Given the description of an element on the screen output the (x, y) to click on. 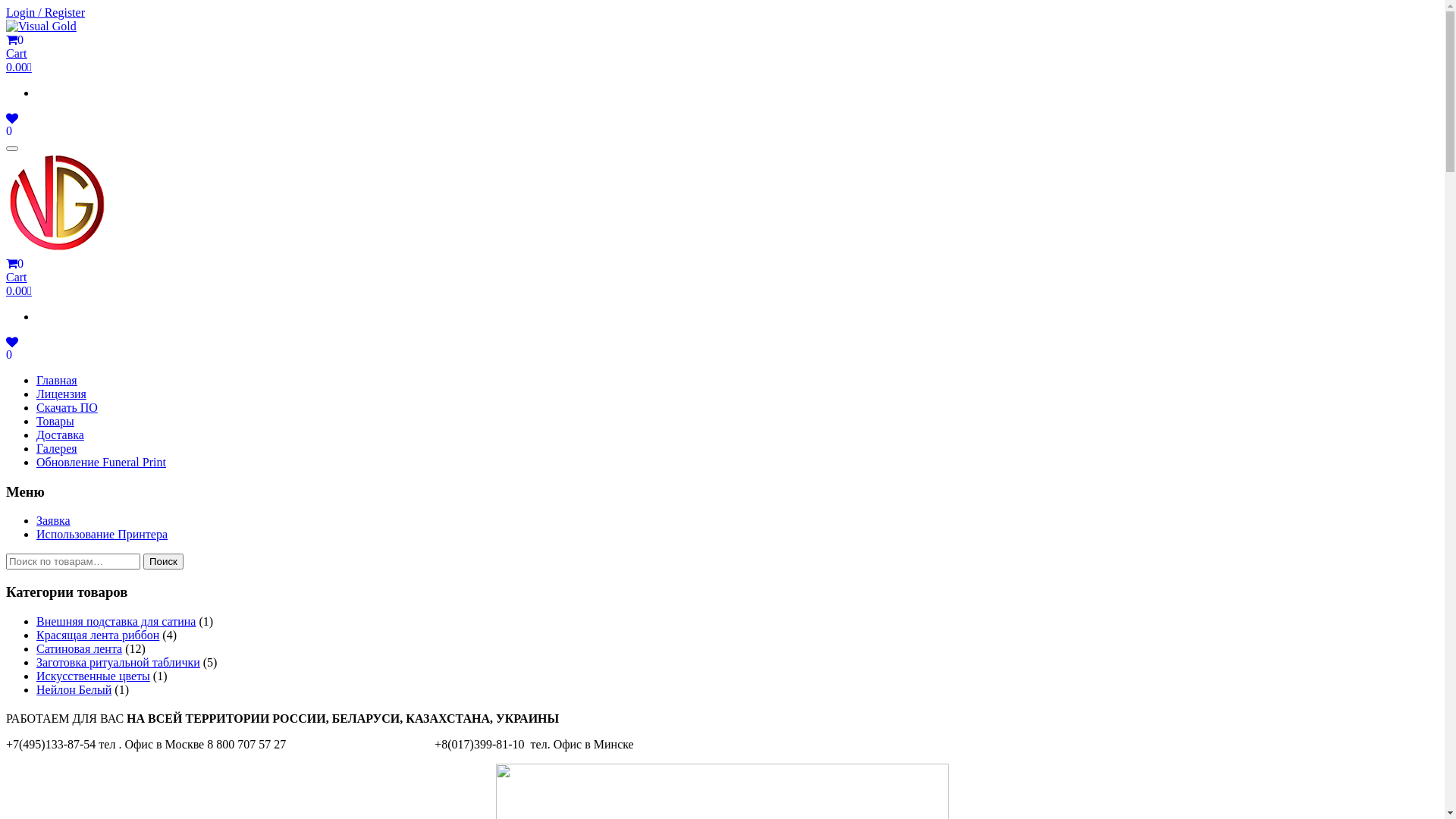
0 Element type: text (12, 130)
Visual Gold Element type: hover (41, 26)
0 Element type: text (12, 354)
Login / Register Element type: text (45, 12)
Toggle navigation Element type: text (12, 148)
Visual Gold Element type: hover (57, 202)
Skip to the content Element type: text (5, 5)
